Given the description of an element on the screen output the (x, y) to click on. 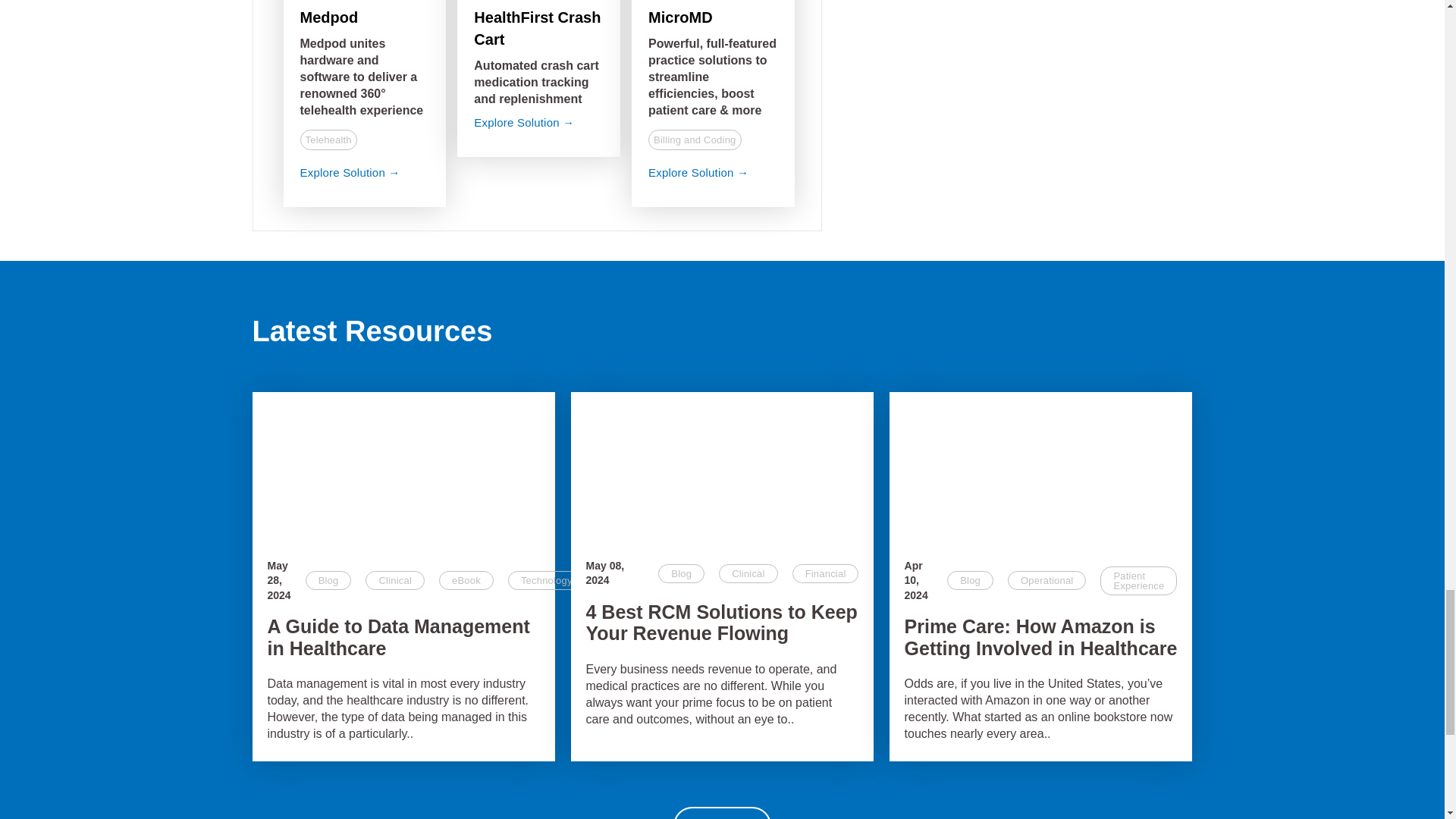
A Guide to Data Management in Healthcare (403, 637)
Prime Care: How Amazon is Getting Involved in Healthcare (1040, 467)
4 Best RCM Solutions to Keep Your Revenue Flowing (722, 467)
A Guide to Data Management in Healthcare (402, 467)
Prime Care: How Amazon is Getting Involved in Healthcare (1040, 637)
4 Best RCM Solutions to Keep Your Revenue Flowing (722, 623)
